Given the description of an element on the screen output the (x, y) to click on. 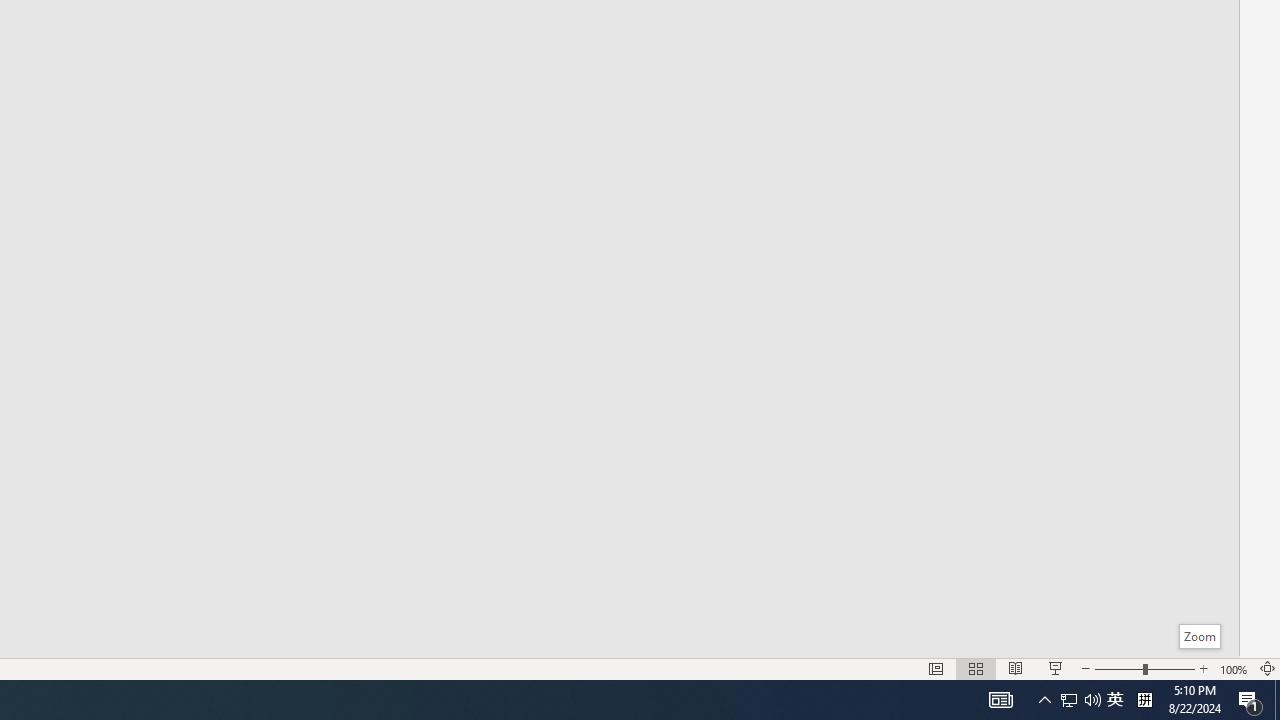
Zoom 100% (1234, 668)
